Given the description of an element on the screen output the (x, y) to click on. 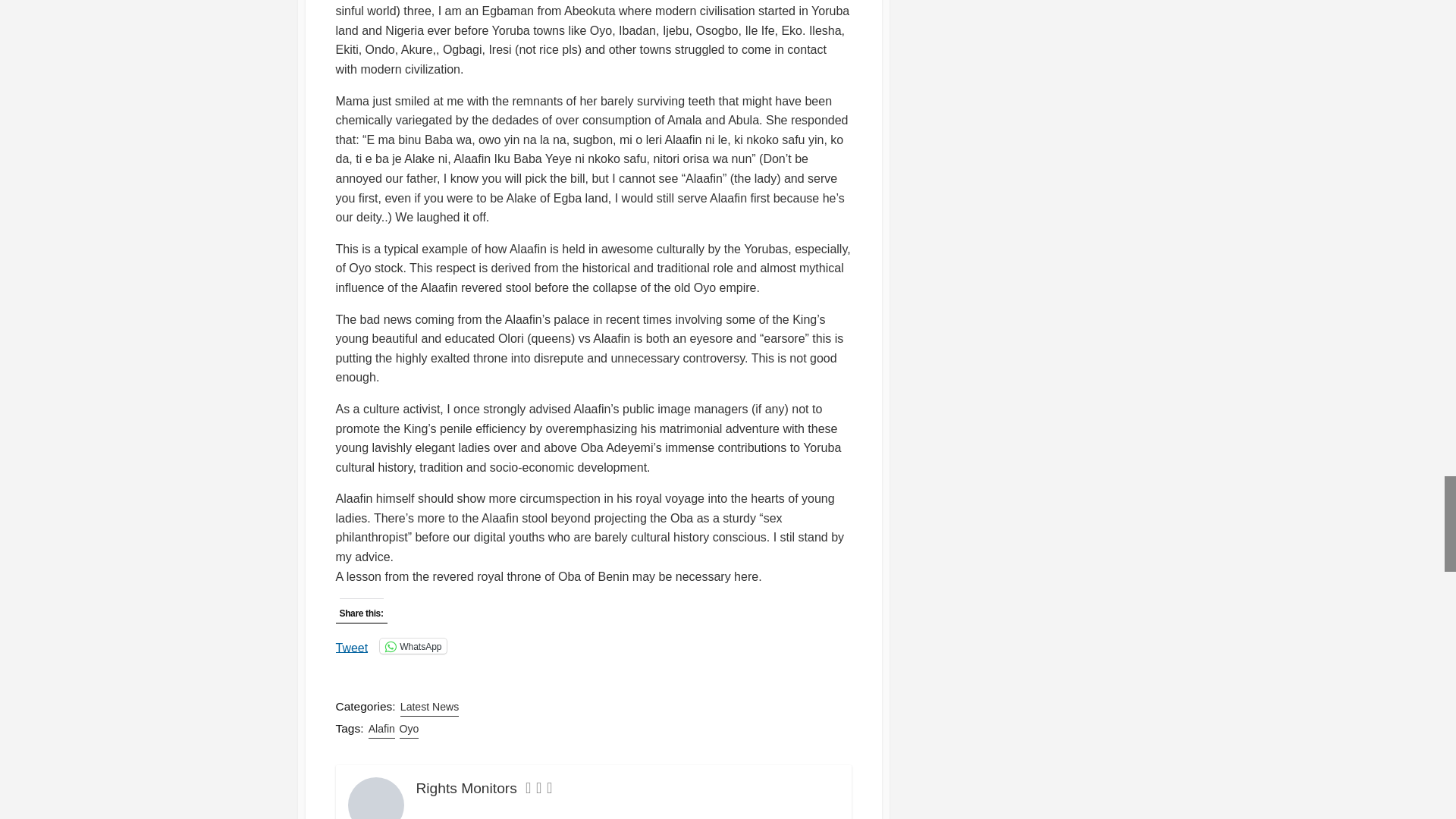
Tweet (351, 644)
Latest News (429, 706)
Alafin (381, 728)
WhatsApp (412, 645)
Click to share on WhatsApp (412, 645)
Oyo (408, 728)
